Given the description of an element on the screen output the (x, y) to click on. 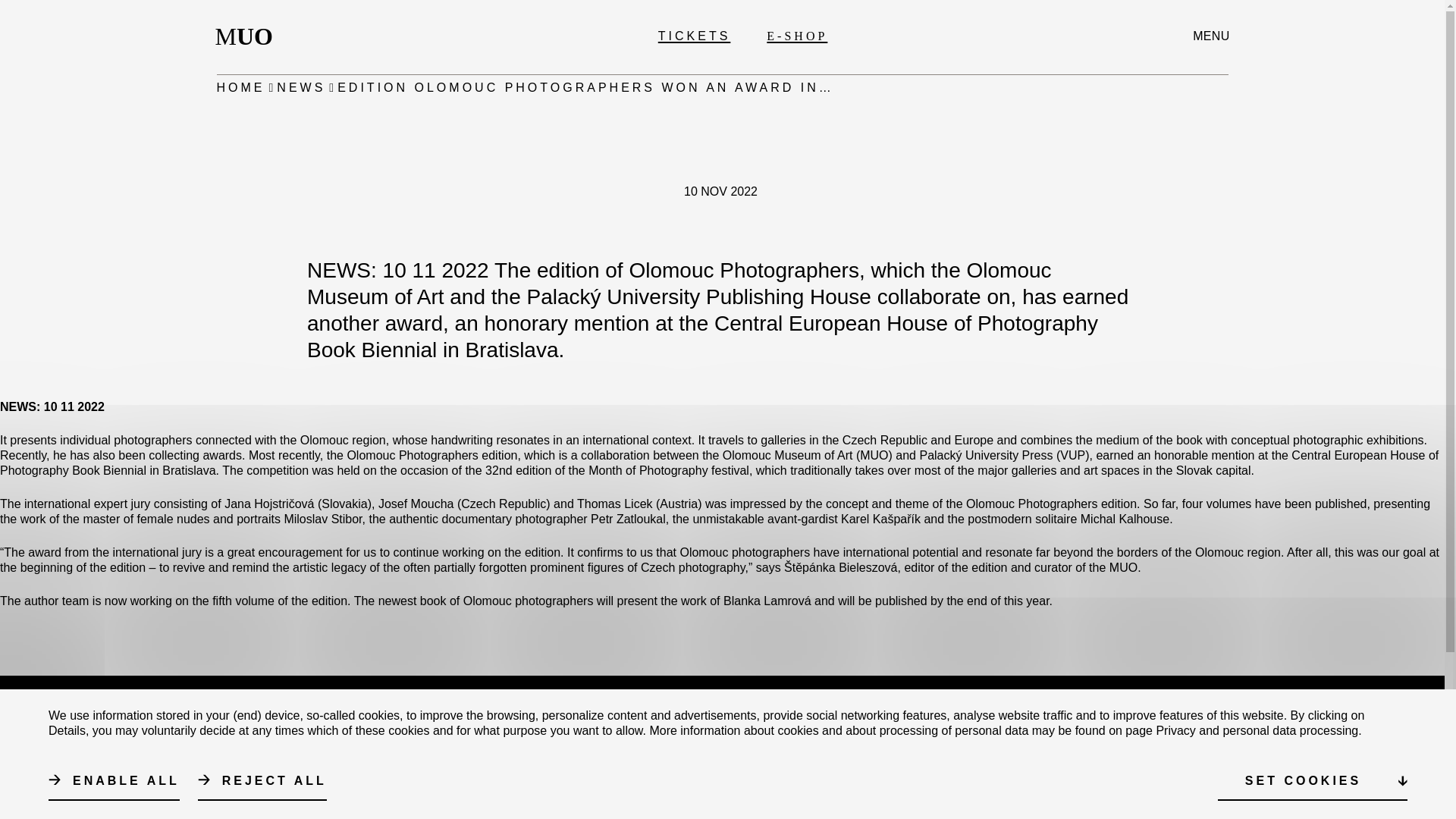
MUSEUM OF MODERN ART (248, 36)
NEWS (831, 736)
MENU (300, 88)
OLOMOUC ARCHDIOCESAN MUSEUM (1210, 35)
TICKETS (769, 765)
SET COOKIES (694, 35)
HOME (1312, 781)
E-SHOP (240, 88)
REJECT ALL (797, 35)
